Given the description of an element on the screen output the (x, y) to click on. 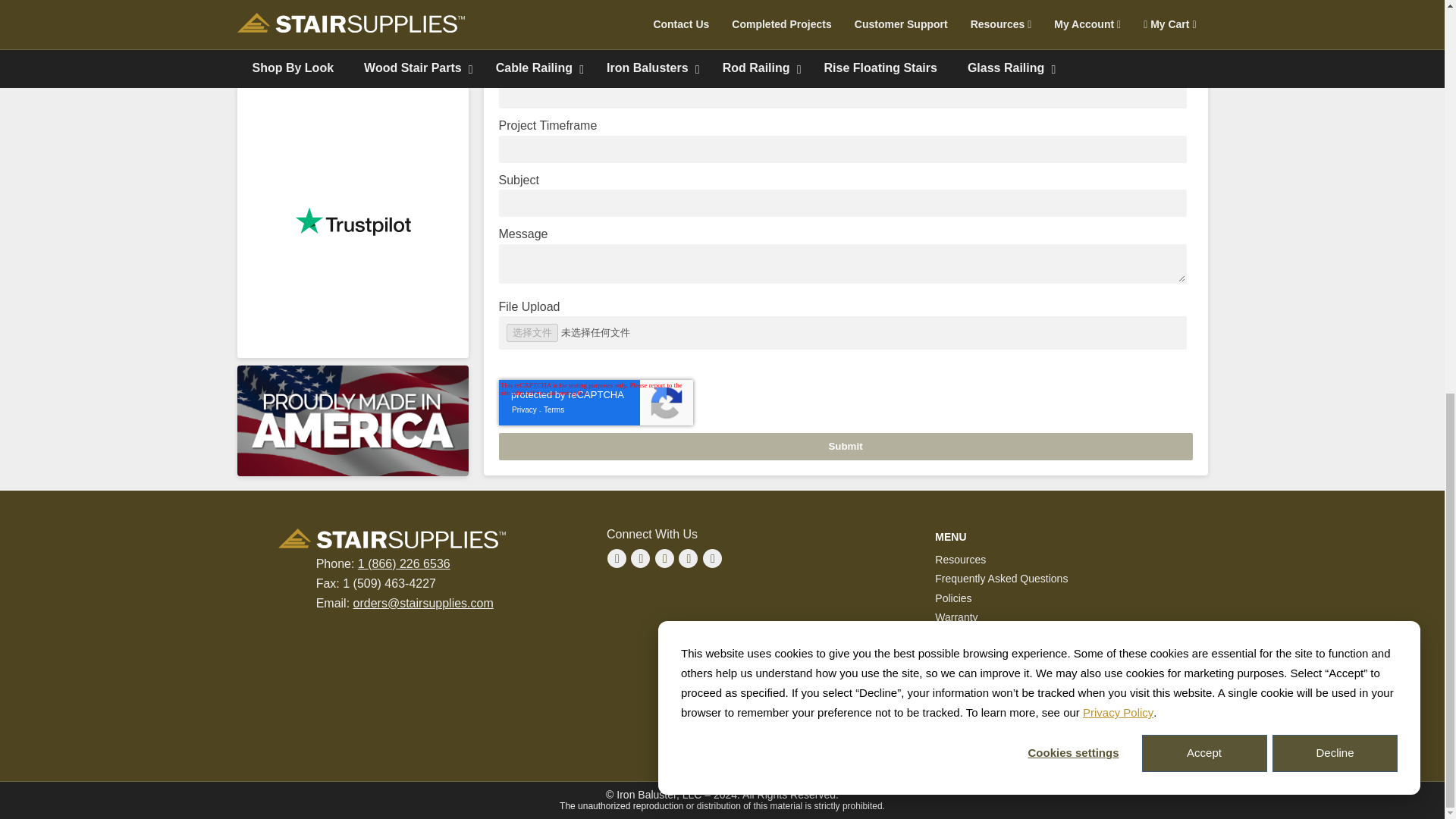
Submit (845, 446)
